Given the description of an element on the screen output the (x, y) to click on. 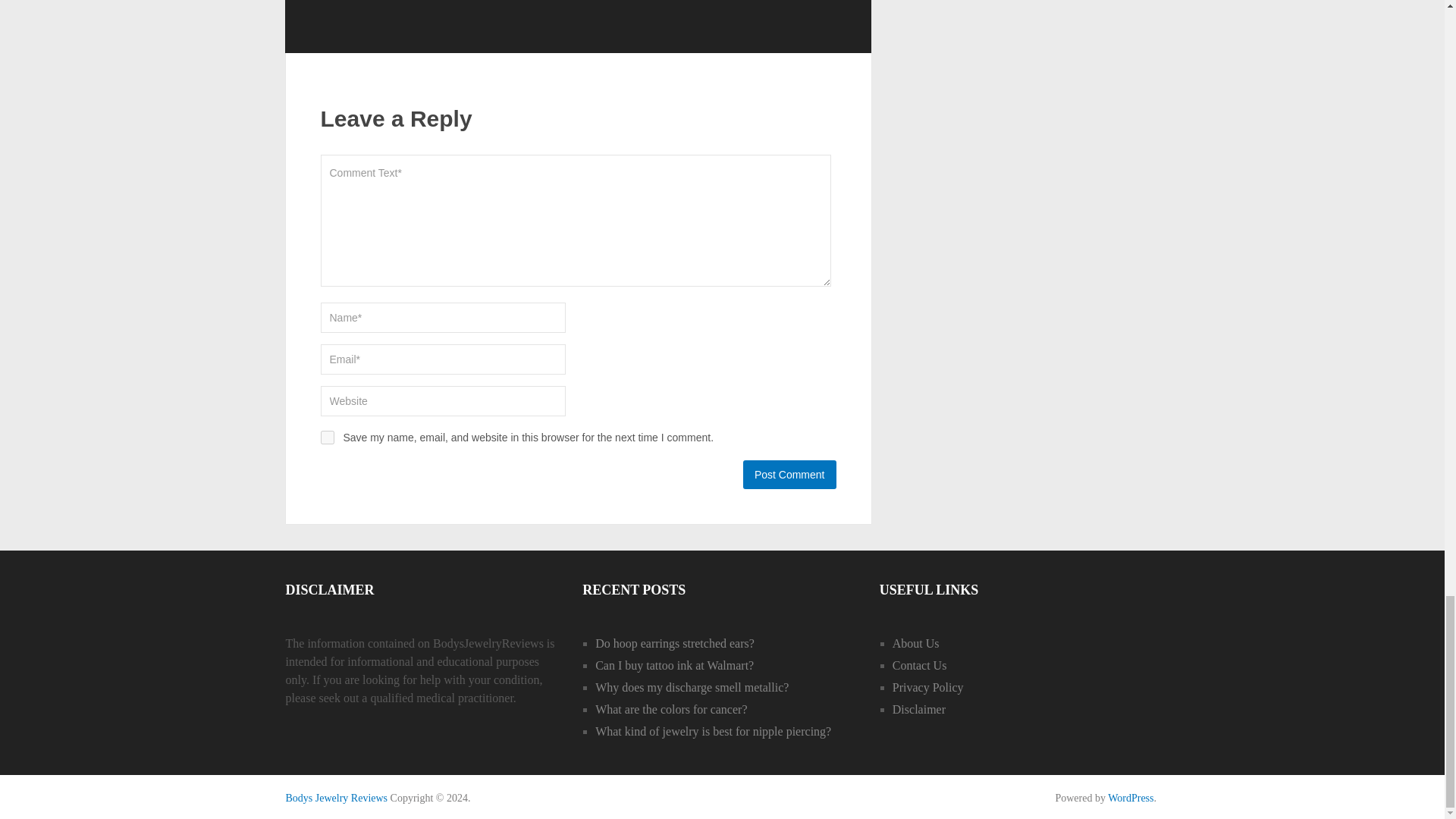
Post Comment (788, 474)
yes (326, 437)
Do hoop earrings stretched ears? (674, 643)
Post Comment (788, 474)
